Given the description of an element on the screen output the (x, y) to click on. 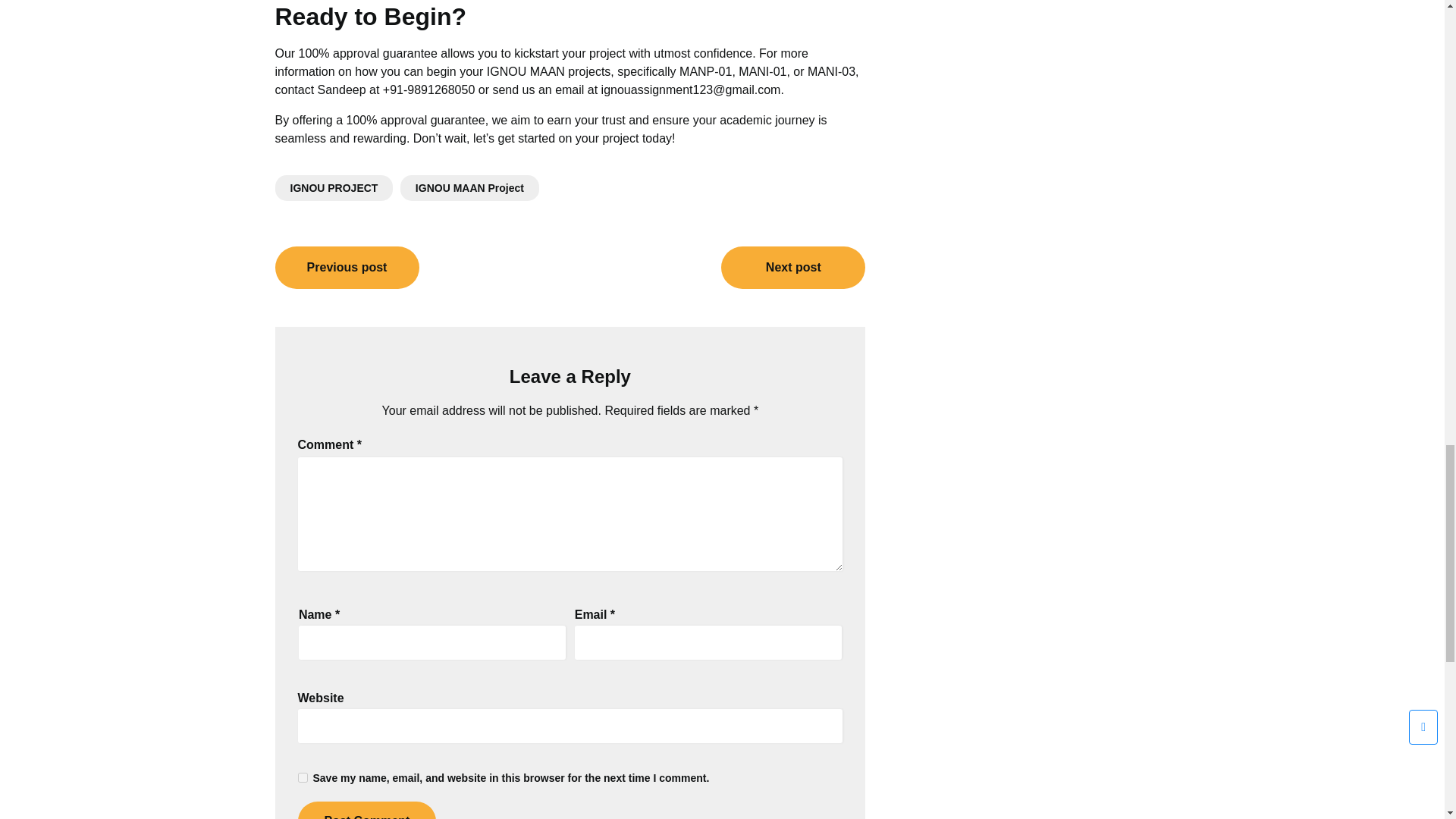
Previous post (347, 267)
IGNOU PROJECT (334, 187)
Post Comment (366, 810)
Next post (792, 267)
IGNOU MAAN Project (469, 187)
Post Comment (366, 810)
yes (302, 777)
